Given the description of an element on the screen output the (x, y) to click on. 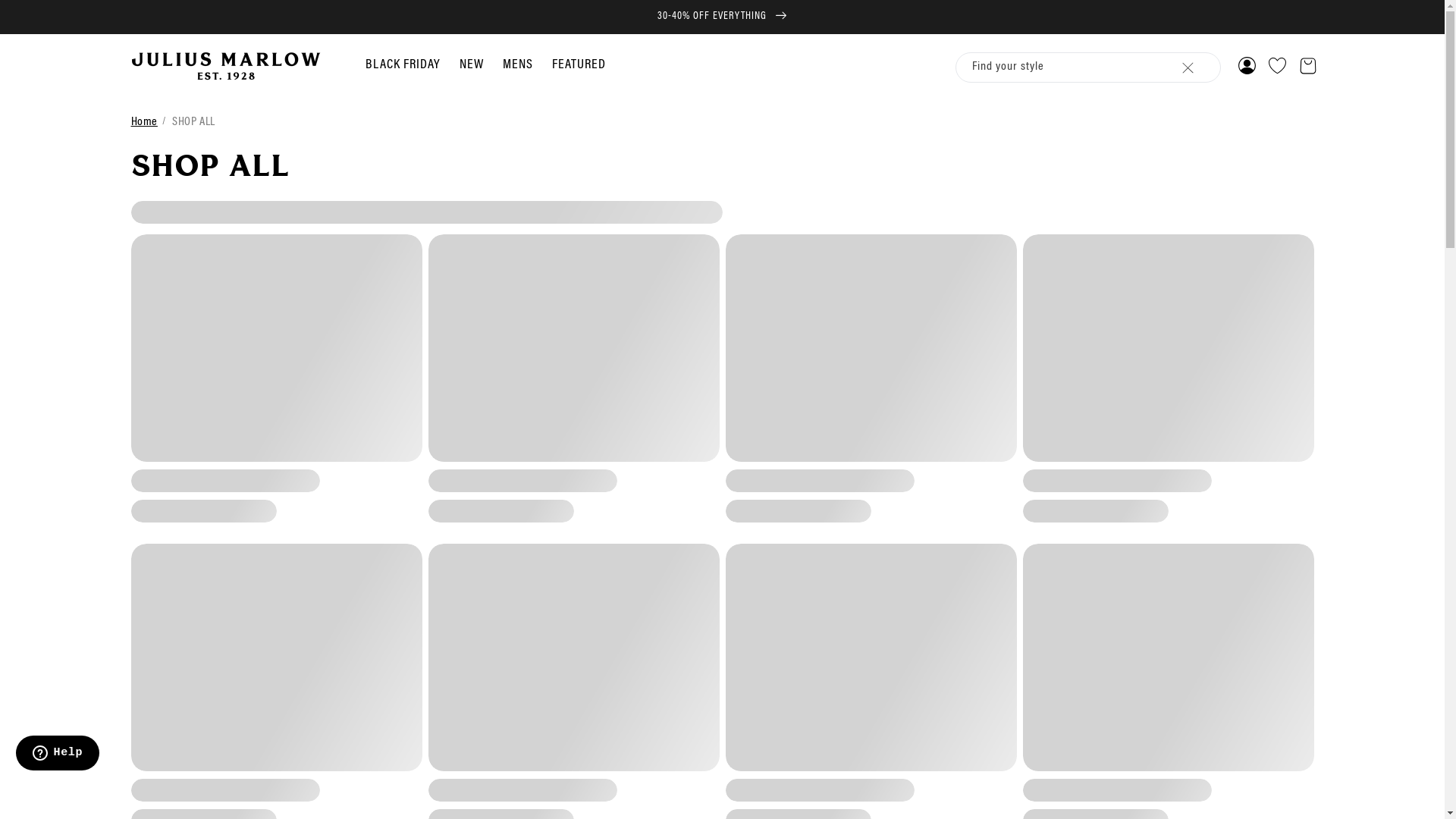
BLACK FRIDAY Element type: text (402, 65)
FEATURED Element type: text (578, 65)
MENS Element type: text (517, 65)
Home Element type: text (143, 122)
FREE RETURNS AUSTRALIA WIDE Element type: text (722, 17)
Opens a widget where you can find more information Element type: hover (57, 754)
Log in Element type: text (1246, 65)
Cart Element type: text (1307, 65)
SHOP ALL Element type: text (193, 122)
NEW Element type: text (471, 65)
